Given the description of an element on the screen output the (x, y) to click on. 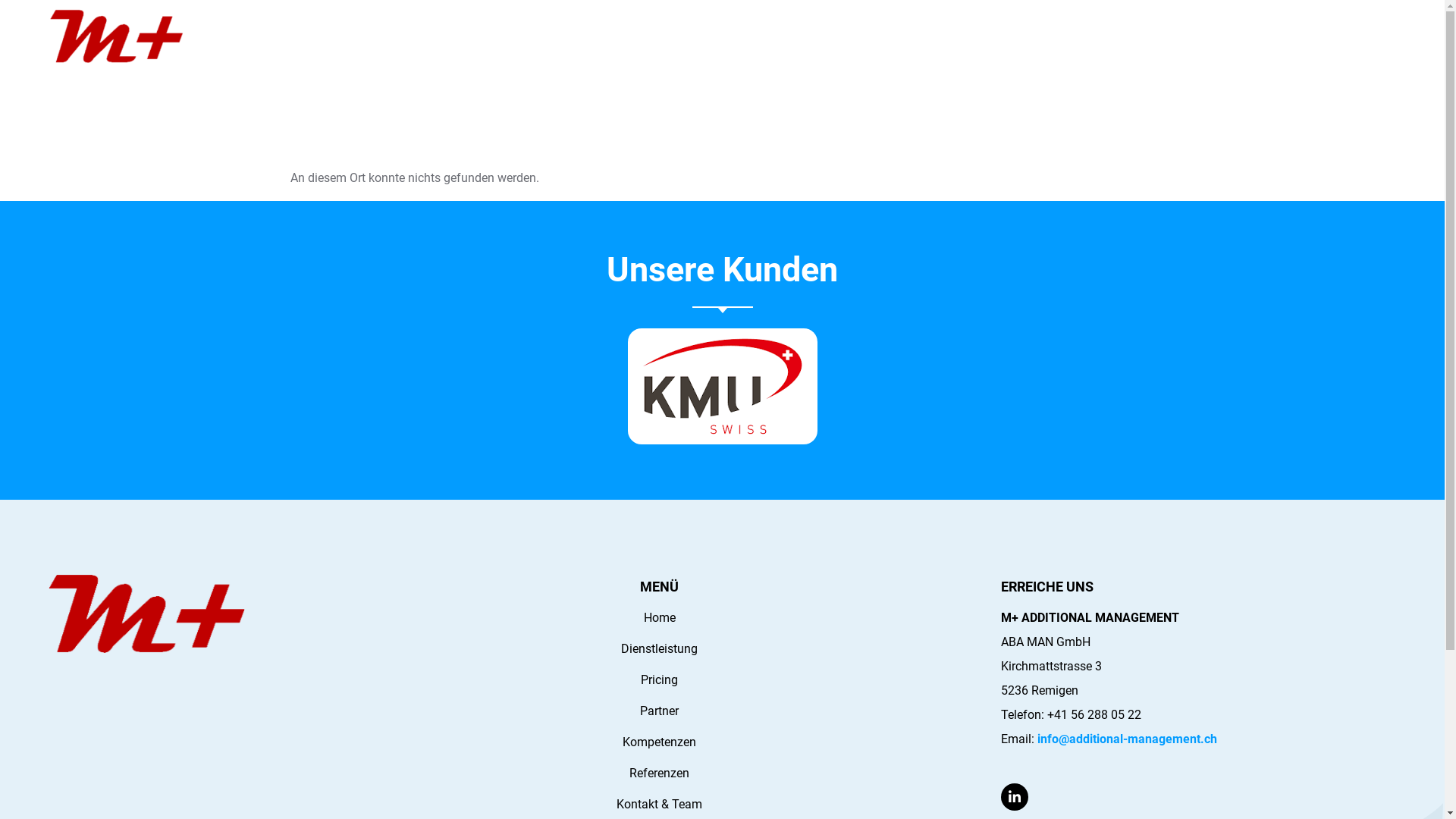
Kontakt & Team Element type: text (801, 72)
Gleich loslegen Element type: text (1313, 72)
Partner Element type: text (659, 711)
Kompetenzen Element type: text (620, 72)
Dienstleistung Element type: text (408, 72)
Home Element type: text (333, 72)
Kompetenzen Element type: text (659, 742)
+41 56 288 05 22 Element type: text (1094, 714)
info@additional-management.ch Element type: text (1127, 738)
Partner Element type: text (543, 72)
info@additional-management.ch Element type: text (1308, 22)
Kontakt & Team Element type: text (659, 804)
Pricing Element type: text (485, 72)
Pricing Element type: text (659, 680)
Referenzen Element type: text (659, 773)
Referenzen Element type: text (707, 72)
Home Element type: text (659, 617)
Dienstleistung Element type: text (659, 649)
+41 56 288 05 22 Element type: text (1127, 22)
